Given the description of an element on the screen output the (x, y) to click on. 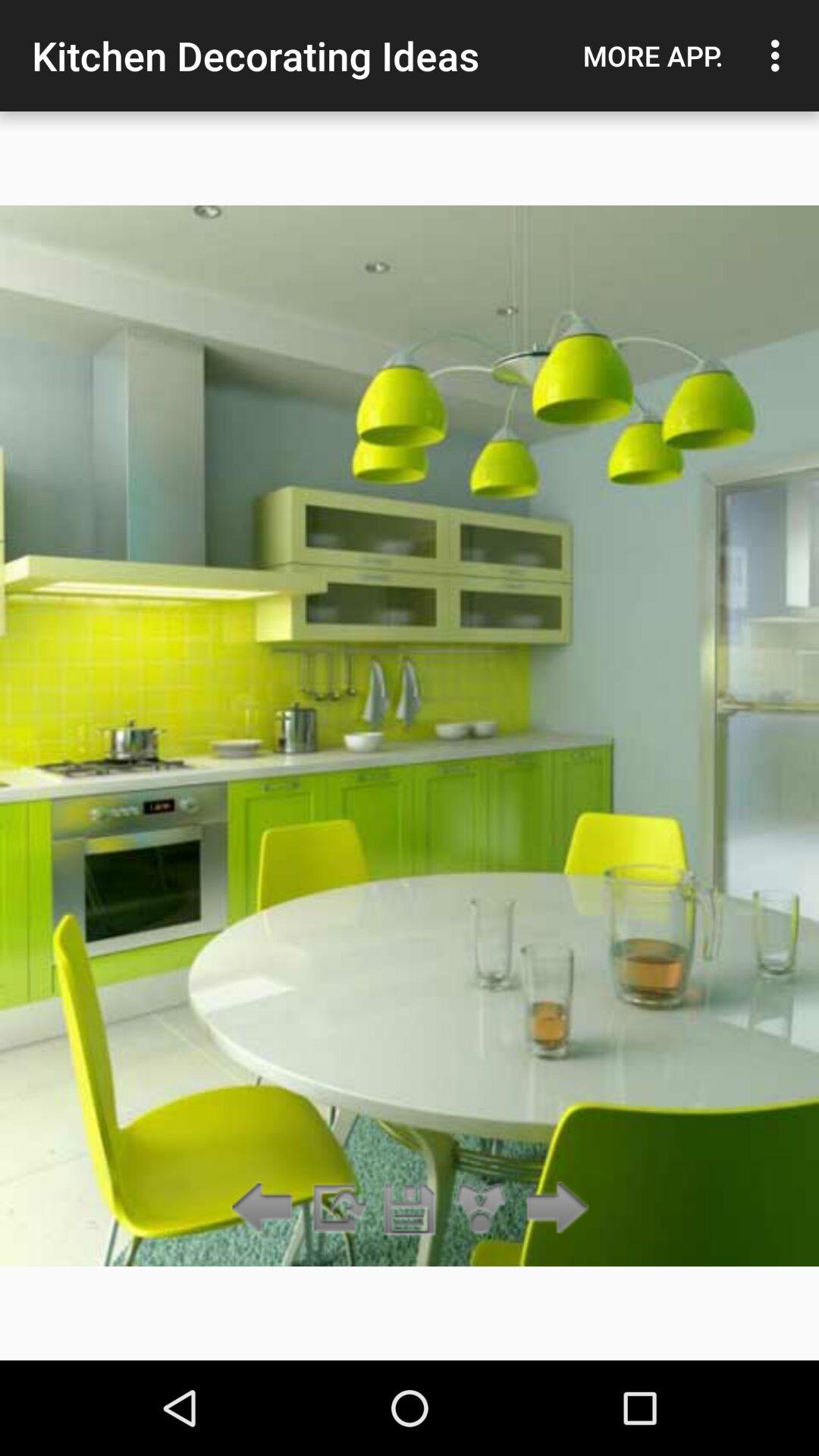
turn off icon below kitchen decorating ideas item (409, 1208)
